Given the description of an element on the screen output the (x, y) to click on. 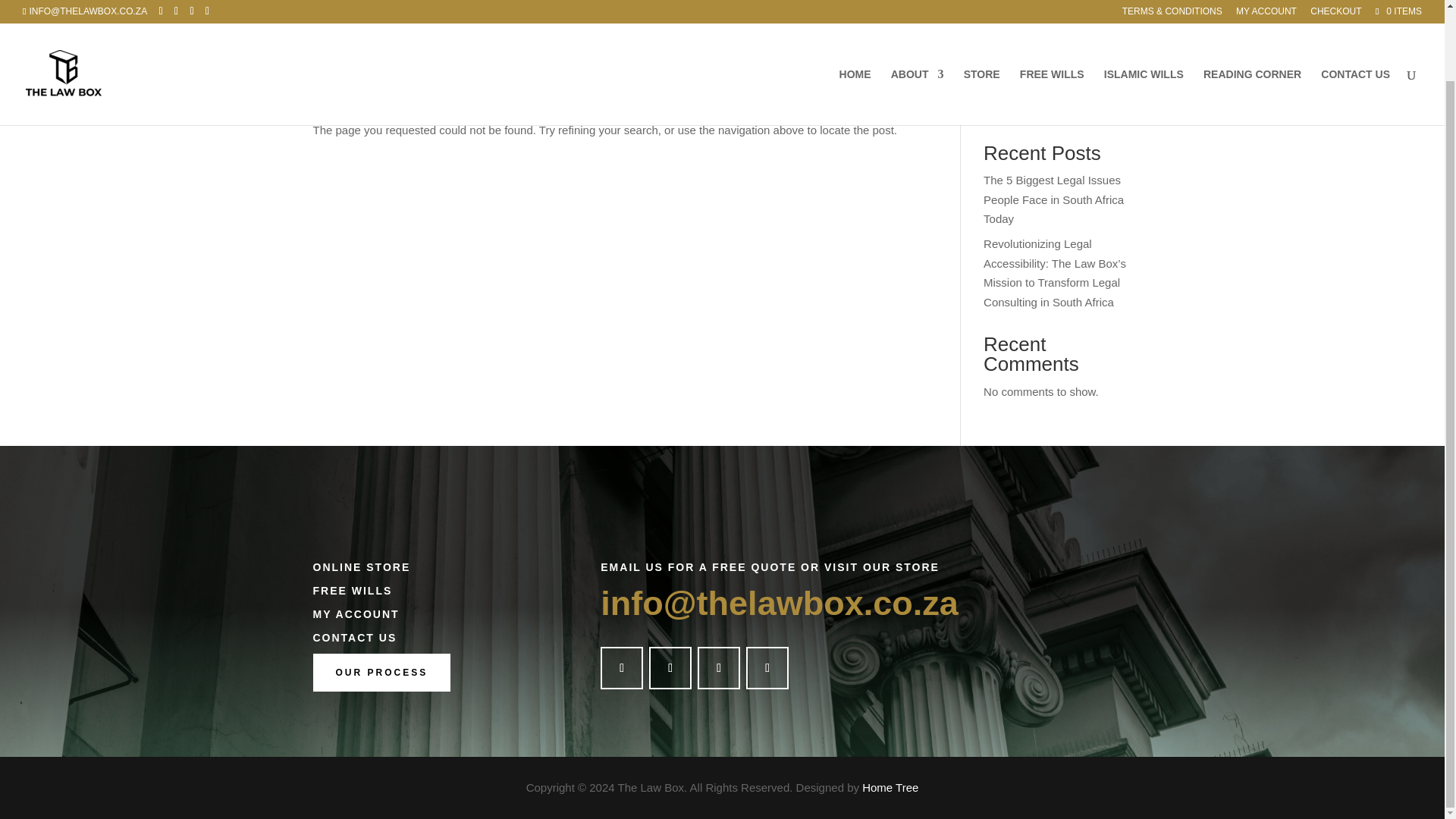
CONTACT US (1355, 22)
Search (1106, 105)
Follow on Facebook (621, 668)
ABOUT (917, 22)
OUR PROCESS (381, 672)
Follow on WhatsApp (767, 668)
ISLAMIC WILLS (1143, 22)
Follow on X (670, 668)
FREE WILLS (1052, 22)
The 5 Biggest Legal Issues People Face in South Africa Today (1054, 199)
